Given the description of an element on the screen output the (x, y) to click on. 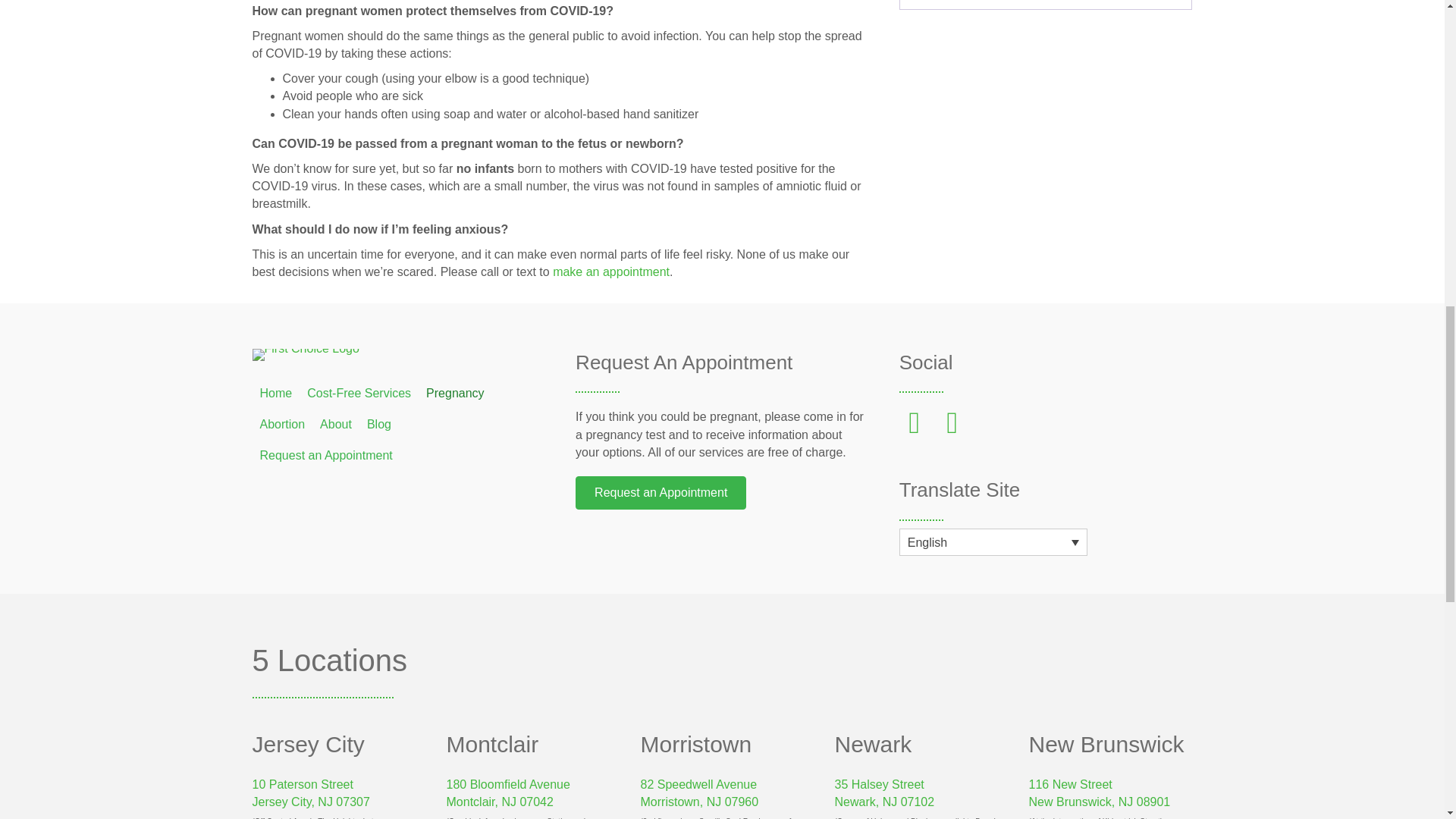
Logo clear (304, 354)
